Given the description of an element on the screen output the (x, y) to click on. 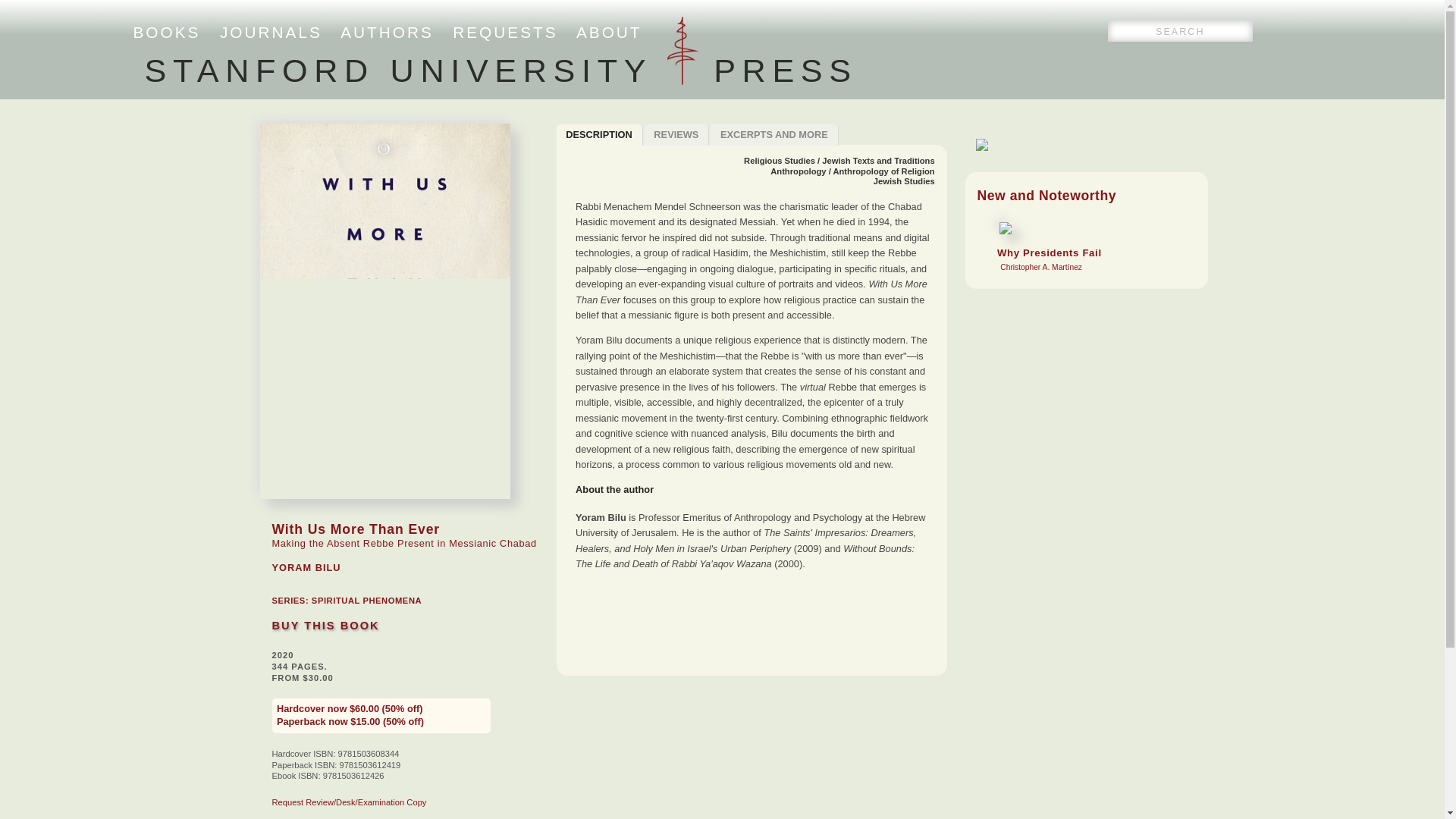
ABOUT (609, 31)
JOURNALS (270, 31)
DESCRIPTION (599, 134)
REQUESTS (504, 31)
Jewish Studies (774, 134)
STANFORD UNIVERSITY PRESS (903, 180)
AUTHORS (500, 70)
BOOKS (386, 31)
REVIEWS (166, 31)
